Given the description of an element on the screen output the (x, y) to click on. 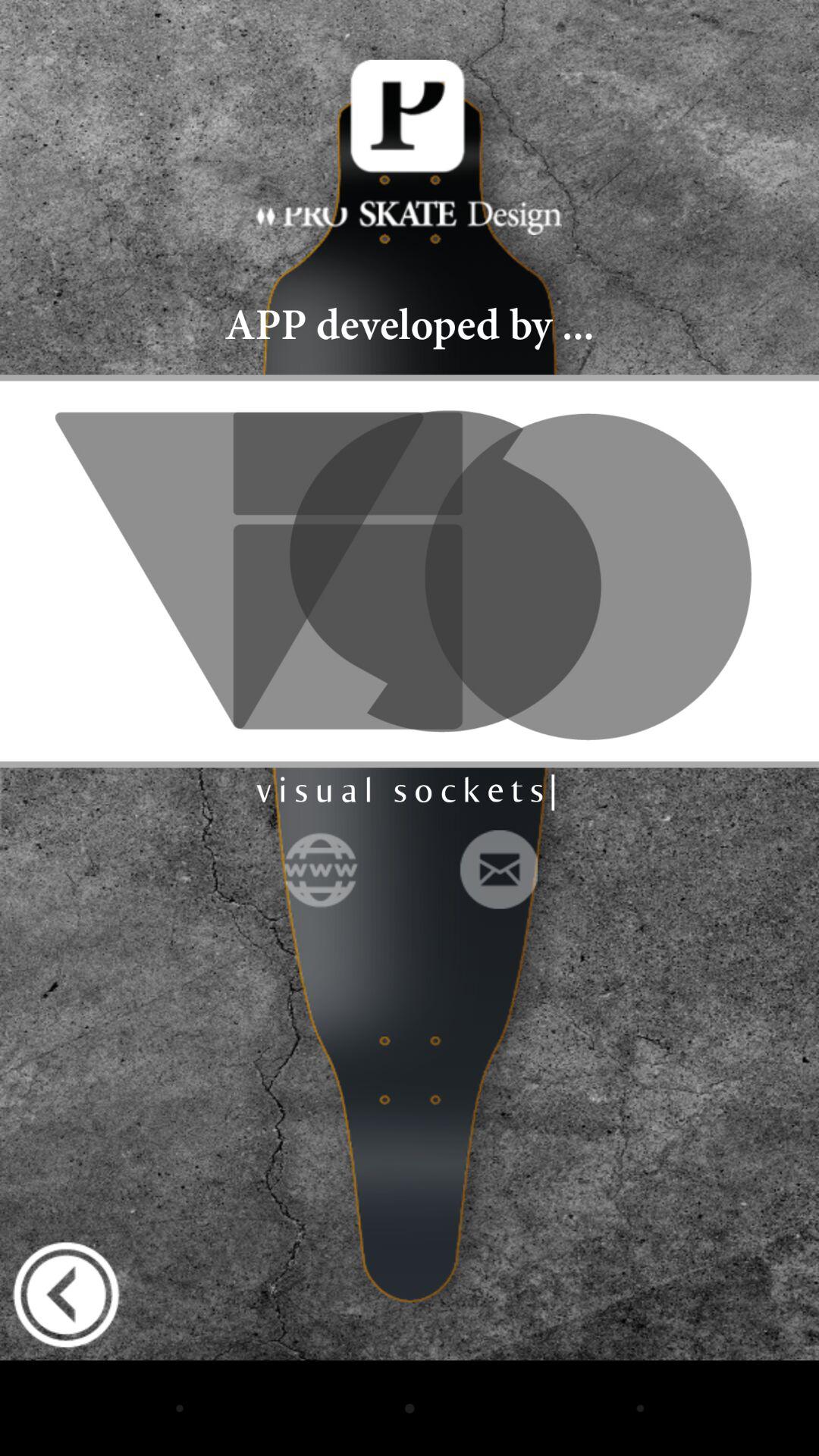
shoiws the previoius option (66, 1293)
